Given the description of an element on the screen output the (x, y) to click on. 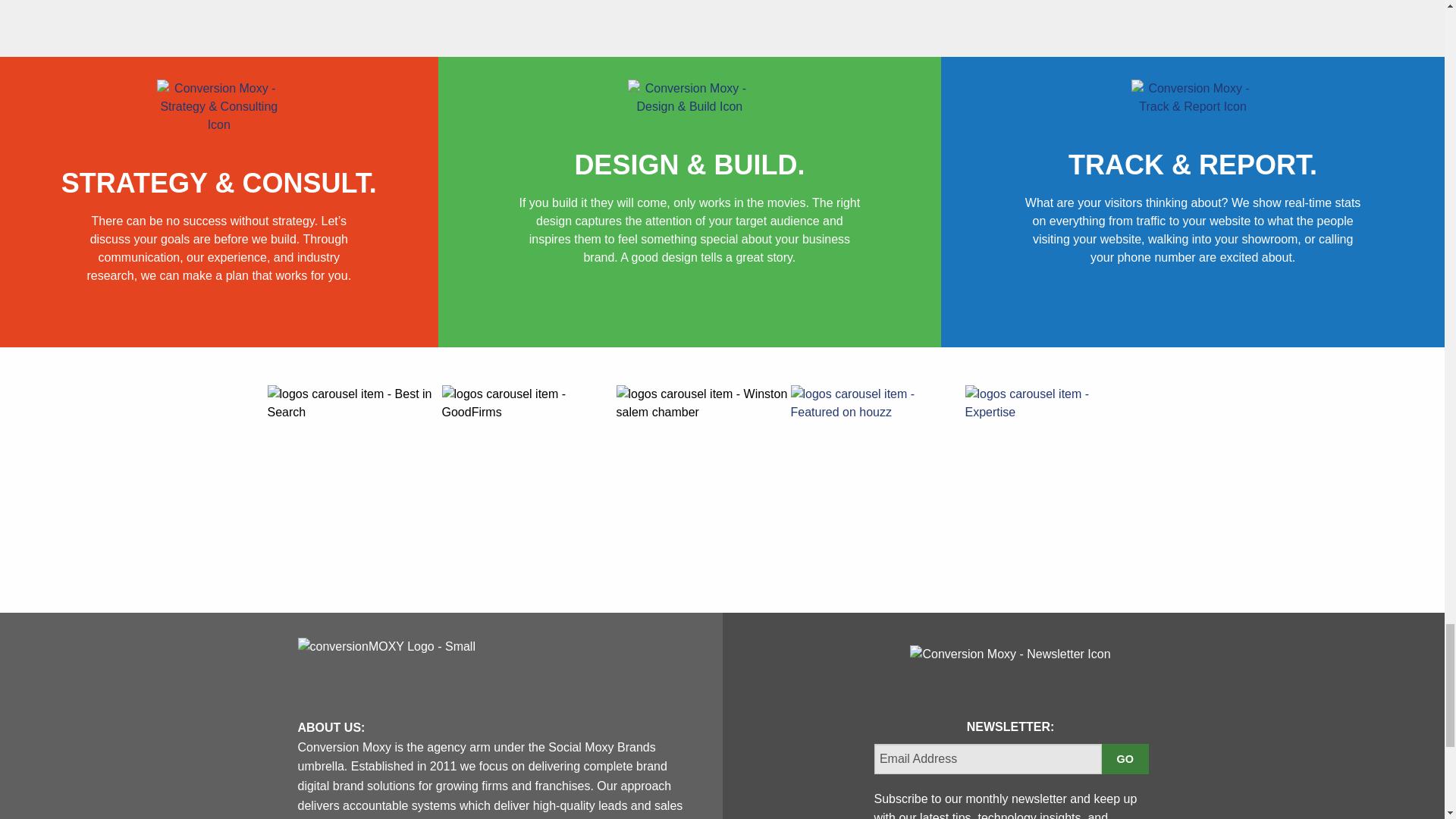
GO (1124, 758)
